Given the description of an element on the screen output the (x, y) to click on. 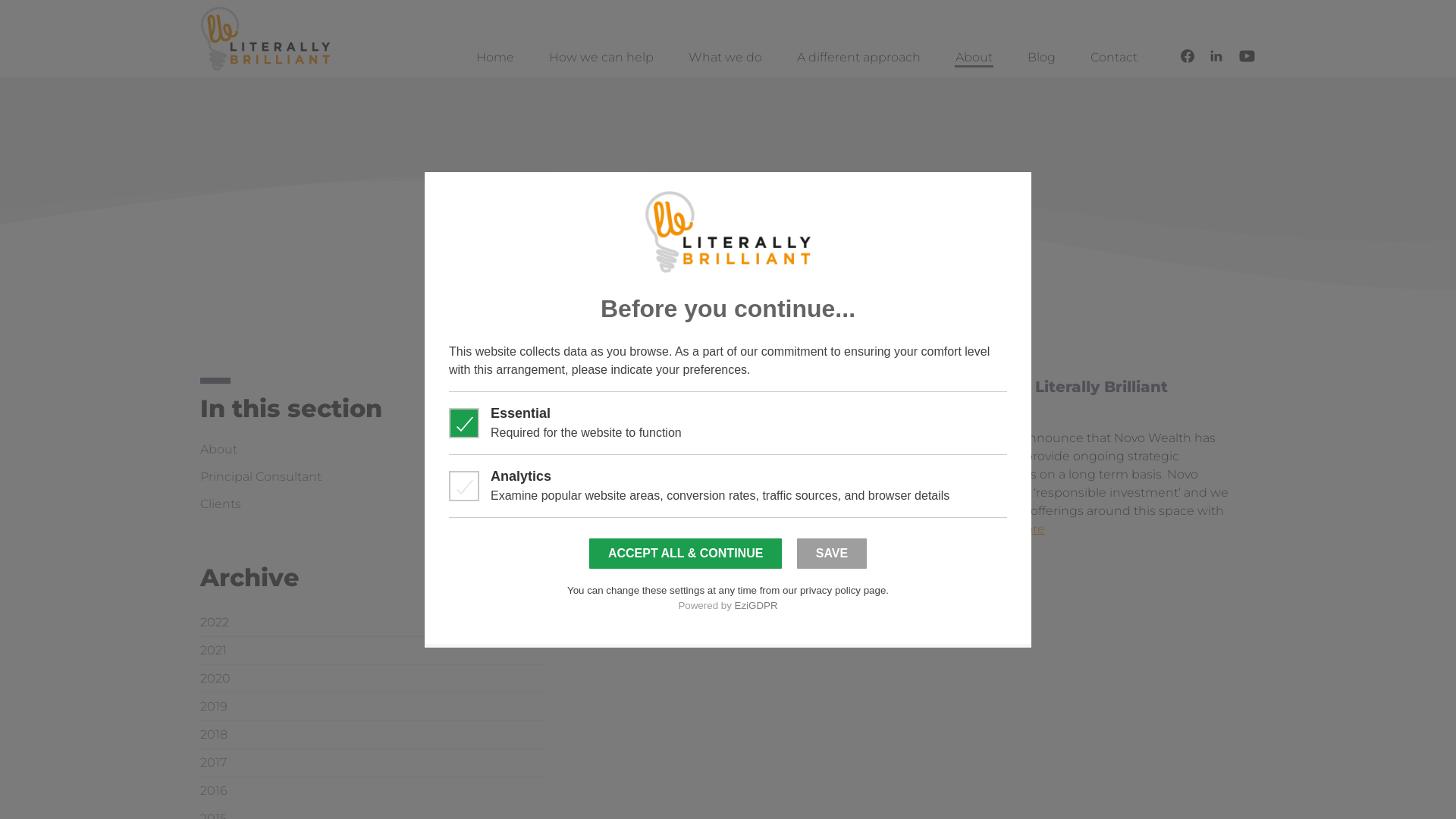
About Element type: text (218, 448)
A different approach Element type: text (858, 57)
2021 Element type: text (213, 650)
Follow us on YouTube Element type: text (1246, 55)
What we do Element type: text (724, 57)
2019 Element type: text (213, 706)
read more
about novo wealth appoints literally brilliant Element type: text (1013, 528)
Follow us on Facebook Element type: text (1187, 55)
Principal Consultant Element type: text (260, 476)
Connect with us on LinkedIn Element type: text (1216, 55)
Novo Wealth Appoints Literally Brilliant Element type: text (1007, 386)
2017 Element type: text (213, 762)
2020 Element type: text (215, 678)
2018 Element type: text (213, 734)
Old client news Element type: text (959, 562)
Home Element type: text (494, 57)
2022 Element type: text (214, 622)
Contact Element type: text (1113, 57)
Clients Element type: text (220, 503)
How we can help Element type: text (601, 57)
Blog Element type: text (1041, 57)
2016 Element type: text (213, 790)
About Element type: text (973, 57)
